Given the description of an element on the screen output the (x, y) to click on. 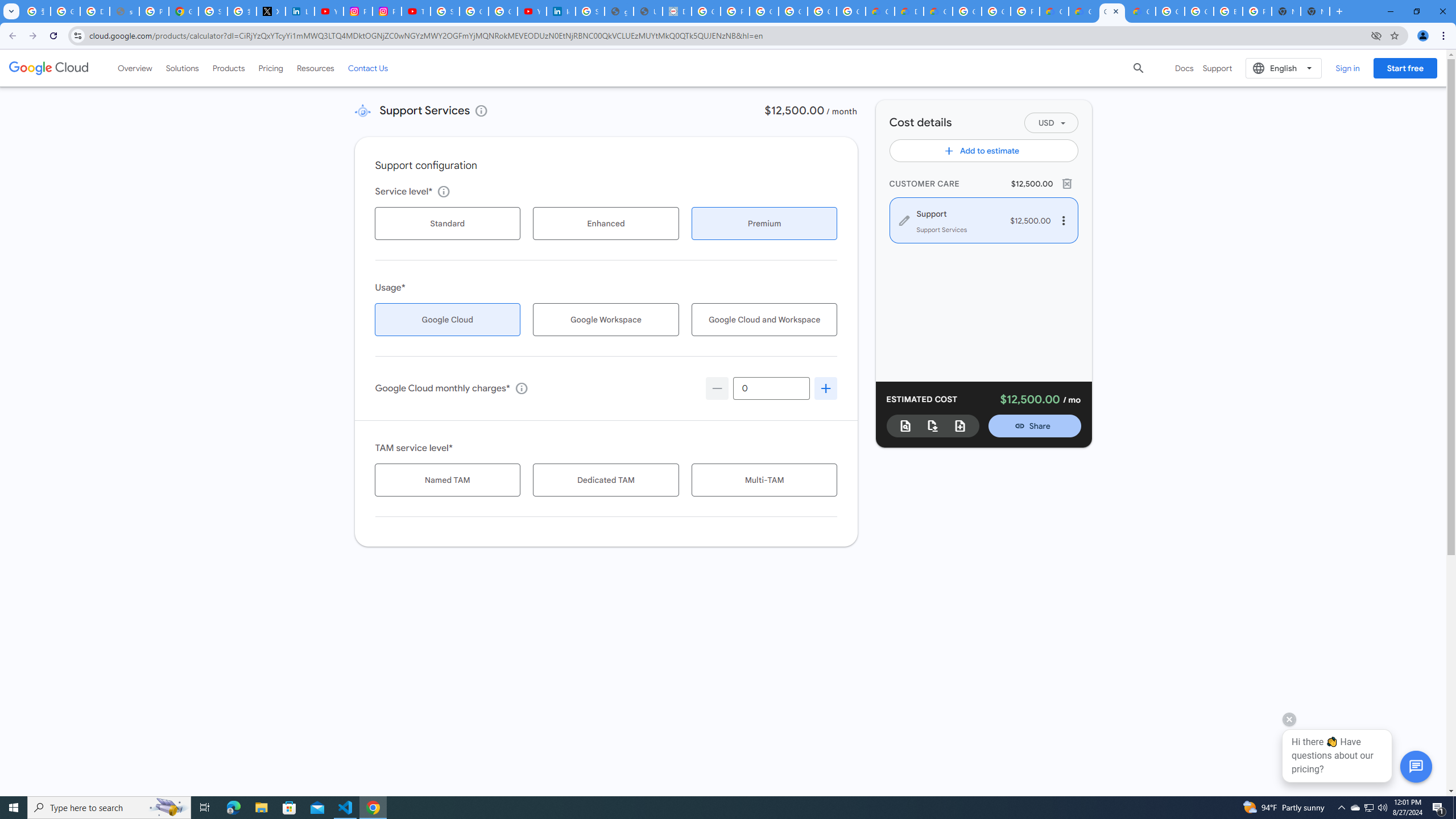
Add to estimate (983, 150)
